Given the description of an element on the screen output the (x, y) to click on. 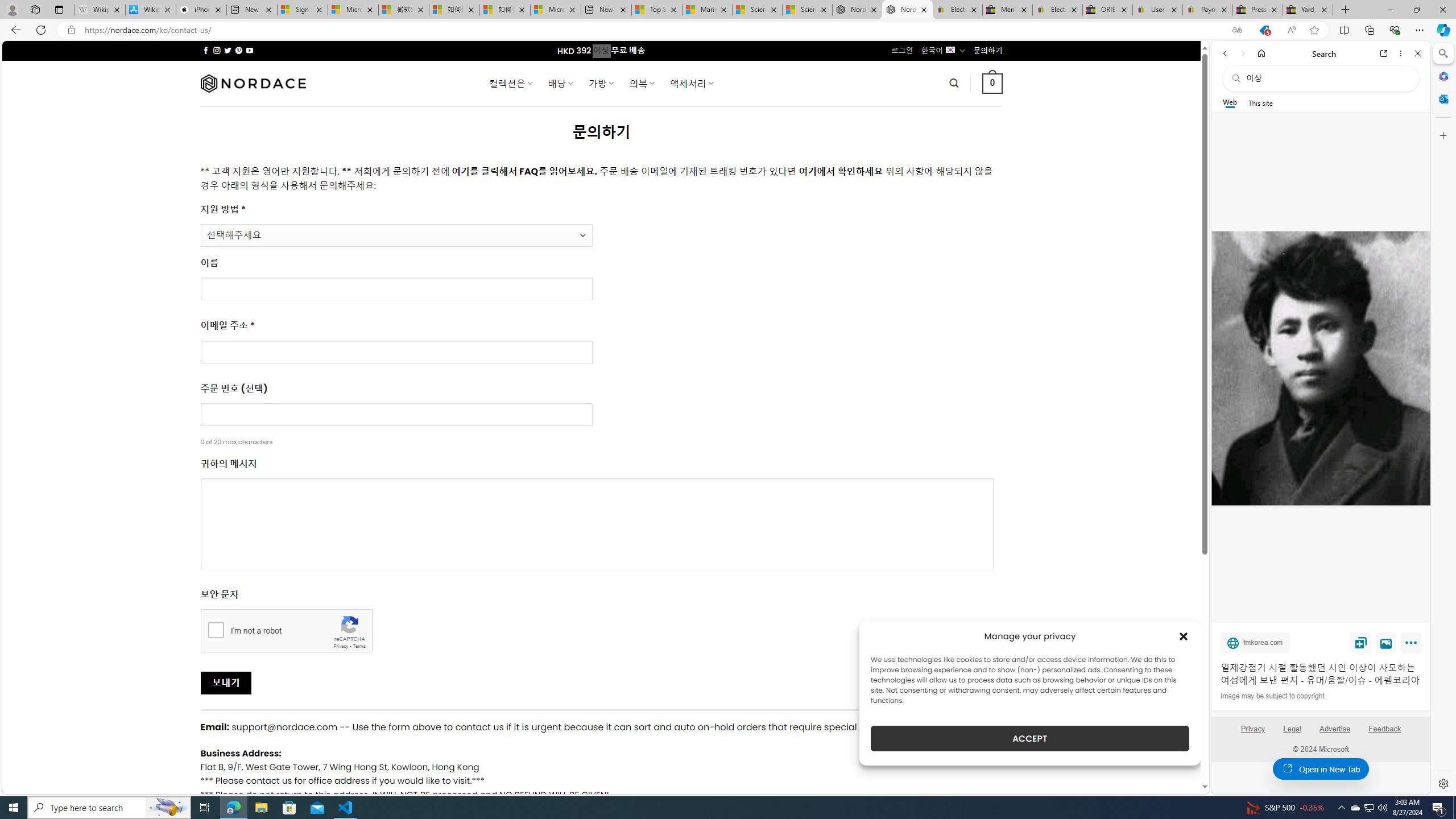
Forward (1242, 53)
